Given the description of an element on the screen output the (x, y) to click on. 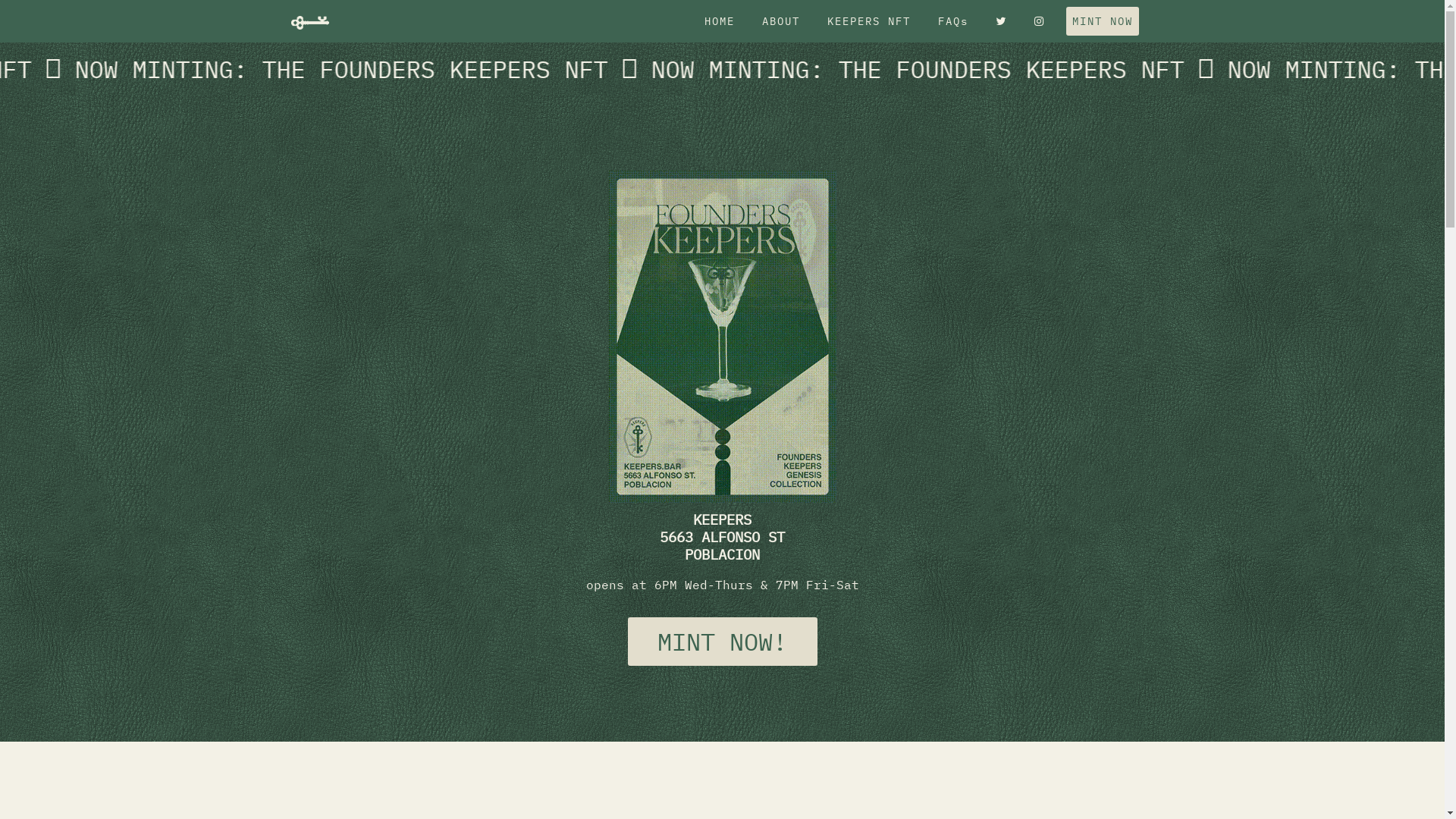
ABOUT Element type: text (780, 20)
MINT NOW! Element type: text (722, 641)
KEEPERS NFT Element type: text (868, 20)
FAQs Element type: text (952, 20)
HOME Element type: text (718, 20)
MINT NOW Element type: text (1102, 20)
